Given the description of an element on the screen output the (x, y) to click on. 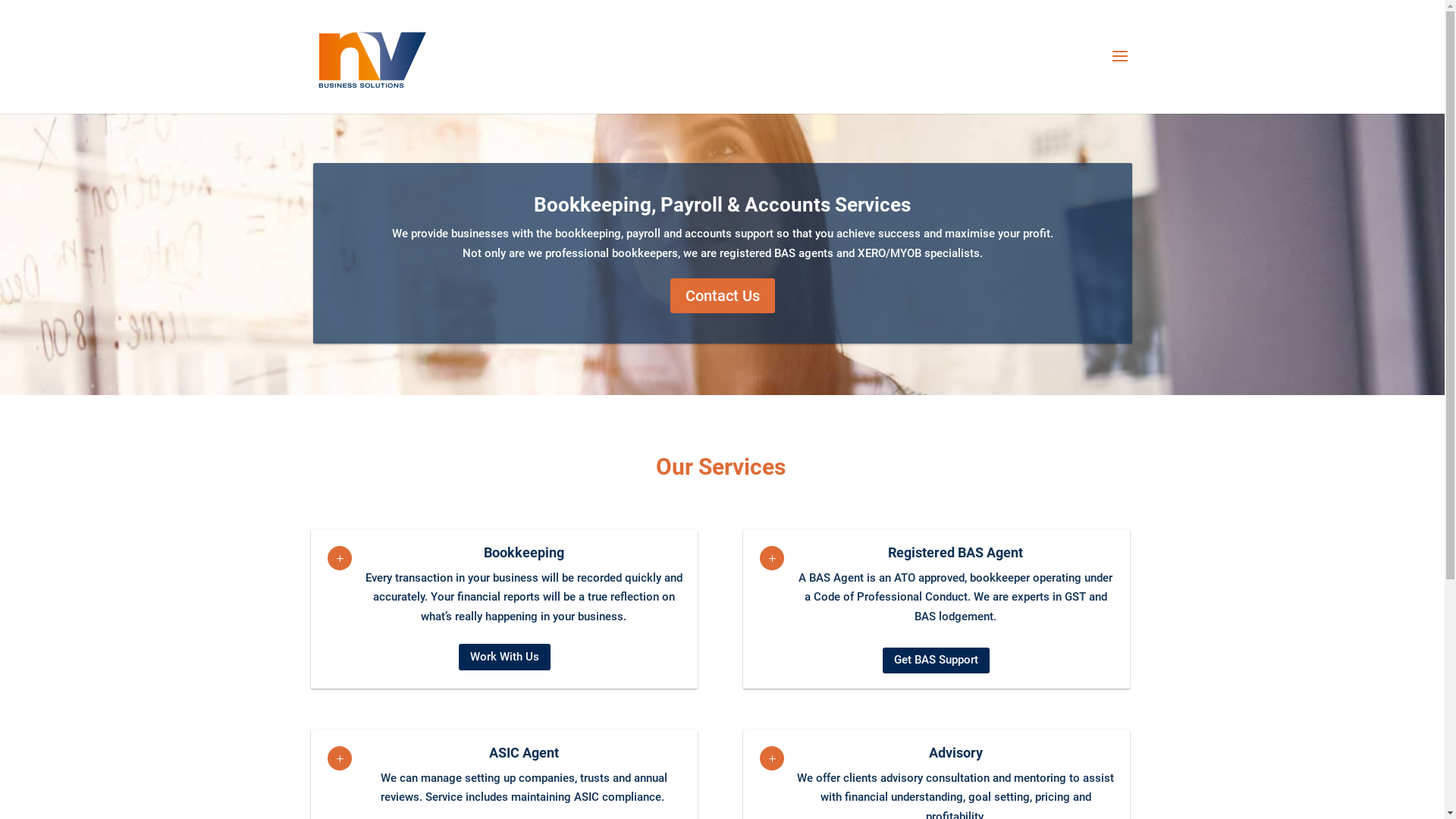
Registered BAS Agent Element type: text (955, 552)
L Element type: text (339, 757)
Get BAS Support Element type: text (935, 660)
Advisory Element type: text (955, 752)
ASIC Agent Element type: text (523, 752)
L Element type: text (771, 557)
L Element type: text (339, 557)
L Element type: text (771, 757)
Contact Us Element type: text (722, 295)
Work With Us Element type: text (504, 656)
Bookkeeping Element type: text (523, 552)
